Given the description of an element on the screen output the (x, y) to click on. 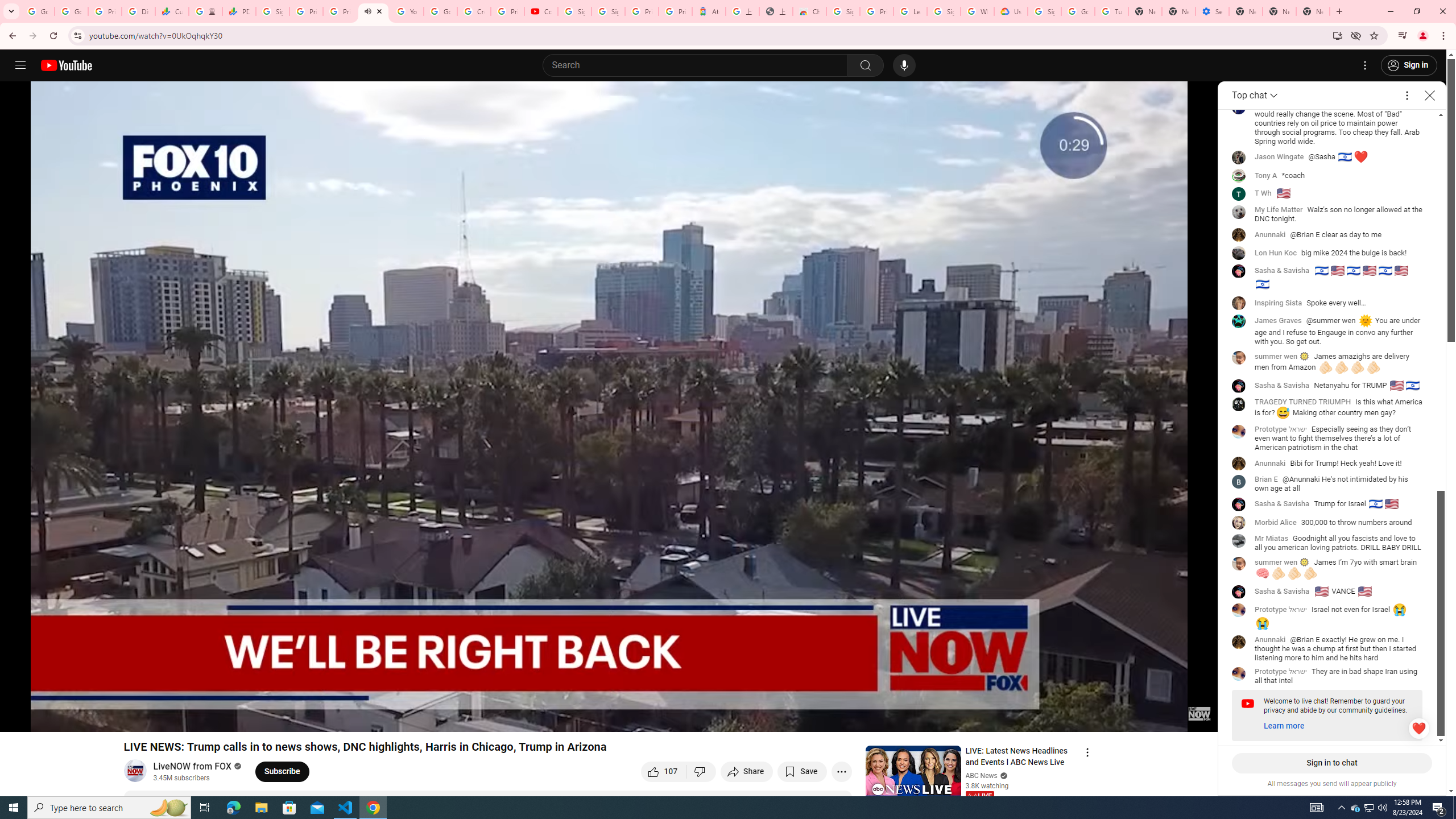
YouTube Home (66, 65)
Learn more (1284, 725)
Google Account Help (441, 11)
Turn cookies on or off - Computer - Google Account Help (1111, 11)
Dislike this video (700, 771)
Sign in - Google Accounts (943, 11)
Next (SHIFT+n) (46, 718)
More actions (841, 771)
Guide (20, 65)
Create your Google Account (474, 11)
